Given the description of an element on the screen output the (x, y) to click on. 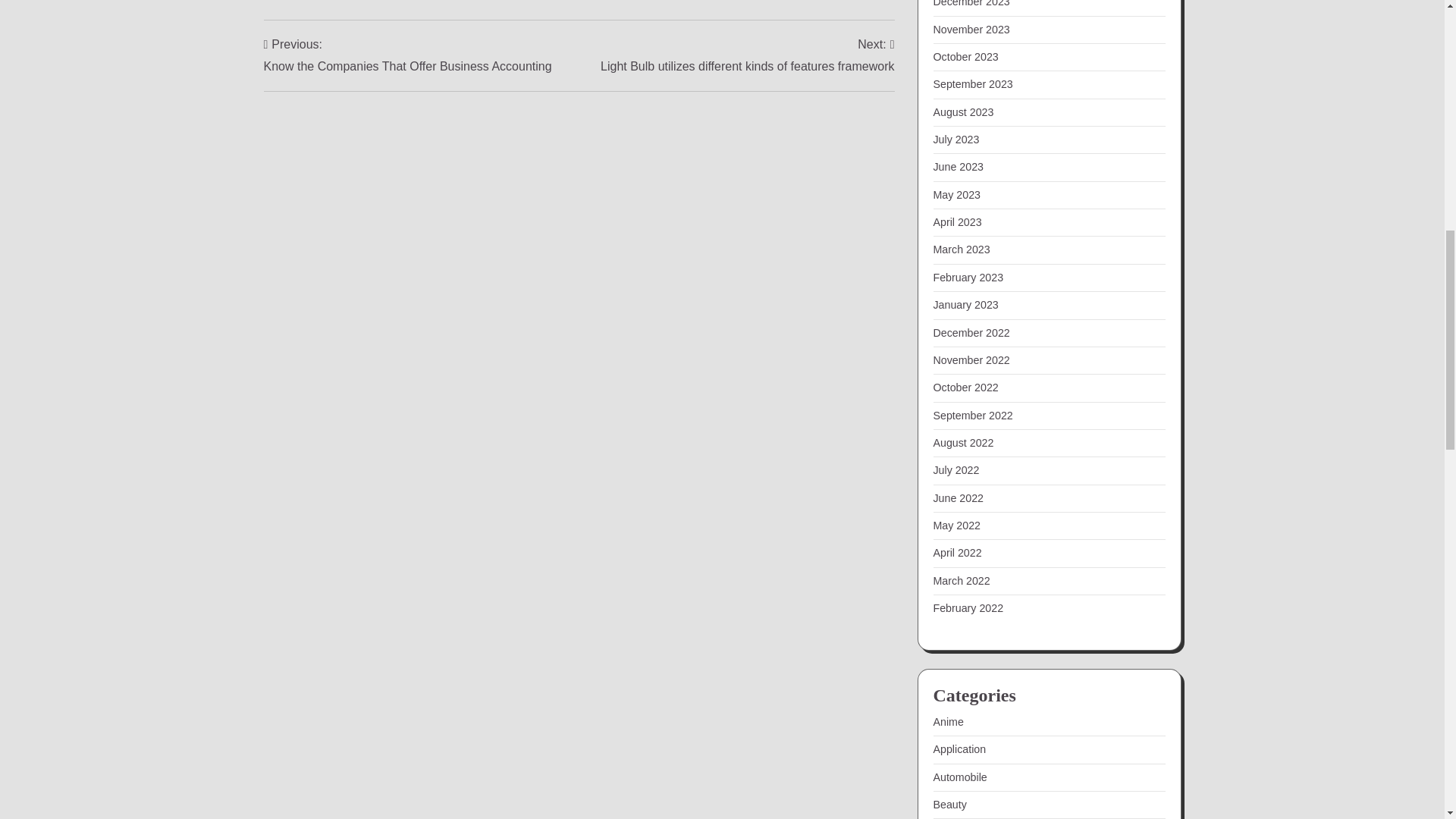
November 2023 (971, 29)
February 2023 (968, 277)
August 2022 (962, 442)
December 2022 (971, 331)
June 2023 (958, 166)
July 2023 (955, 139)
August 2023 (962, 111)
September 2023 (972, 83)
May 2023 (956, 194)
September 2022 (972, 415)
January 2023 (965, 304)
December 2023 (407, 56)
October 2022 (971, 3)
